Given the description of an element on the screen output the (x, y) to click on. 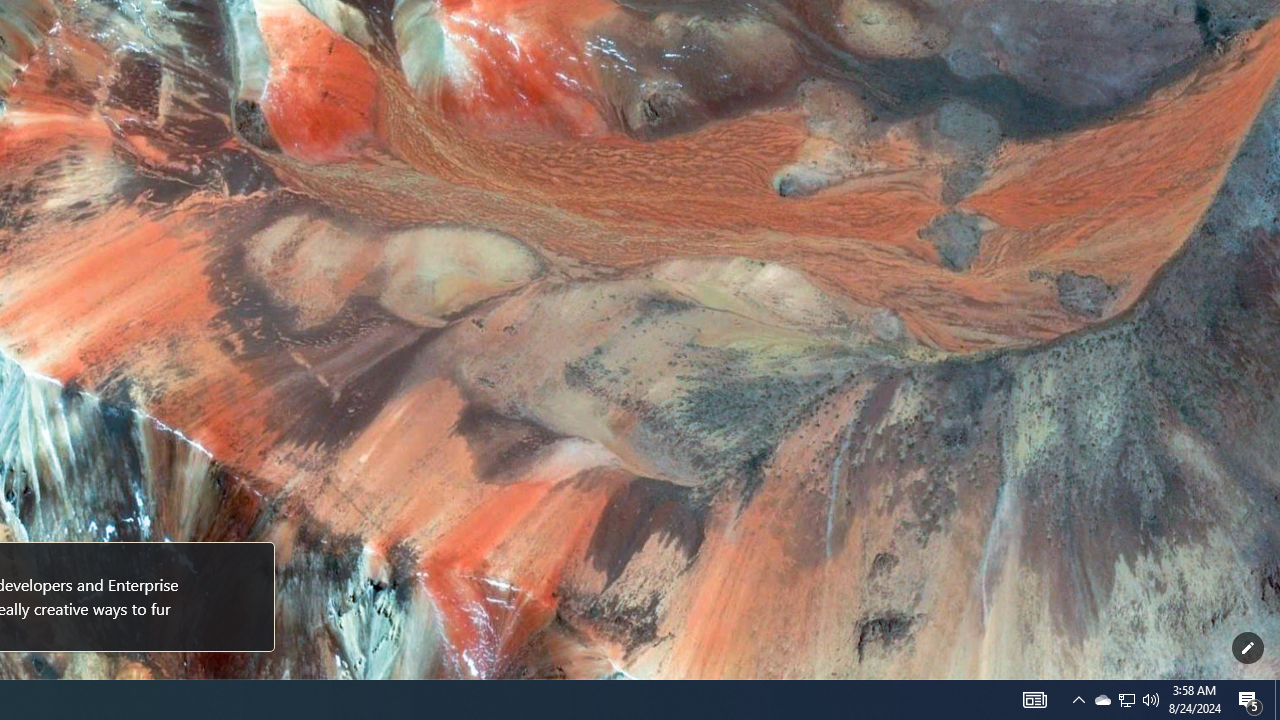
Customize this page (1247, 647)
